Given the description of an element on the screen output the (x, y) to click on. 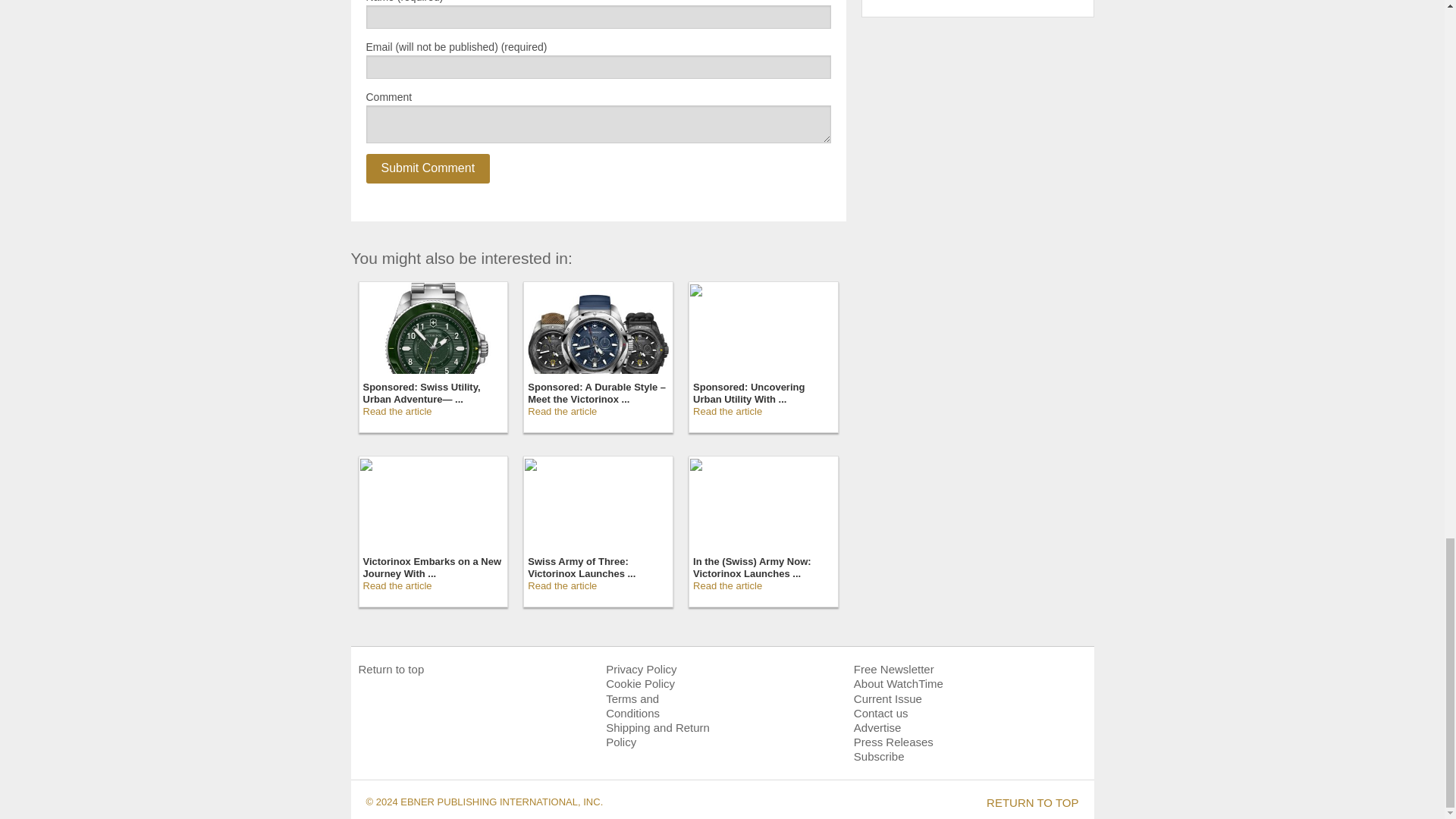
Submit Comment (427, 168)
